Given the description of an element on the screen output the (x, y) to click on. 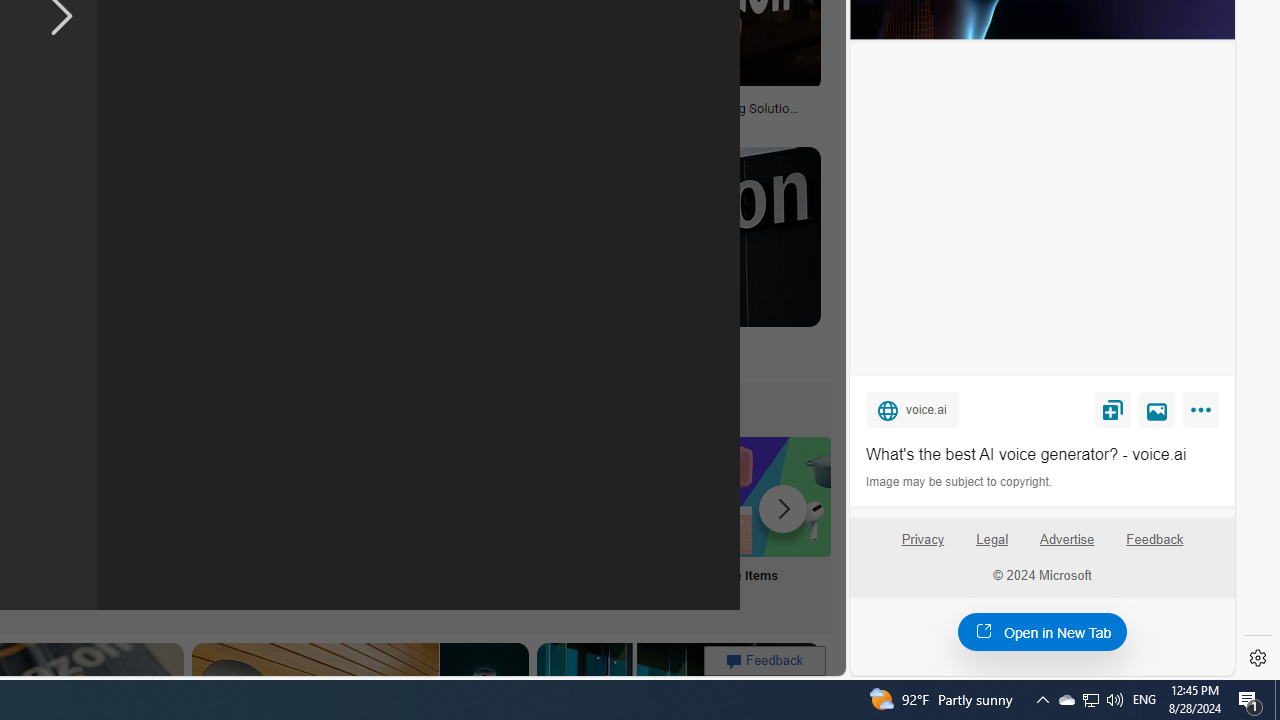
Amazon Mini TV Mini TV (116, 521)
Privacy (922, 547)
Amazon (662, 343)
Amazon Online Shopping Homepage Online Shopping Homepage (248, 521)
vecteezy.com (371, 123)
Prime Label (511, 521)
vecteezy.com (317, 121)
protothema.gr (554, 358)
Amazon Prime Label (511, 496)
Advertise (1067, 547)
Prime Shopping Online (380, 521)
Legal (992, 547)
